Given the description of an element on the screen output the (x, y) to click on. 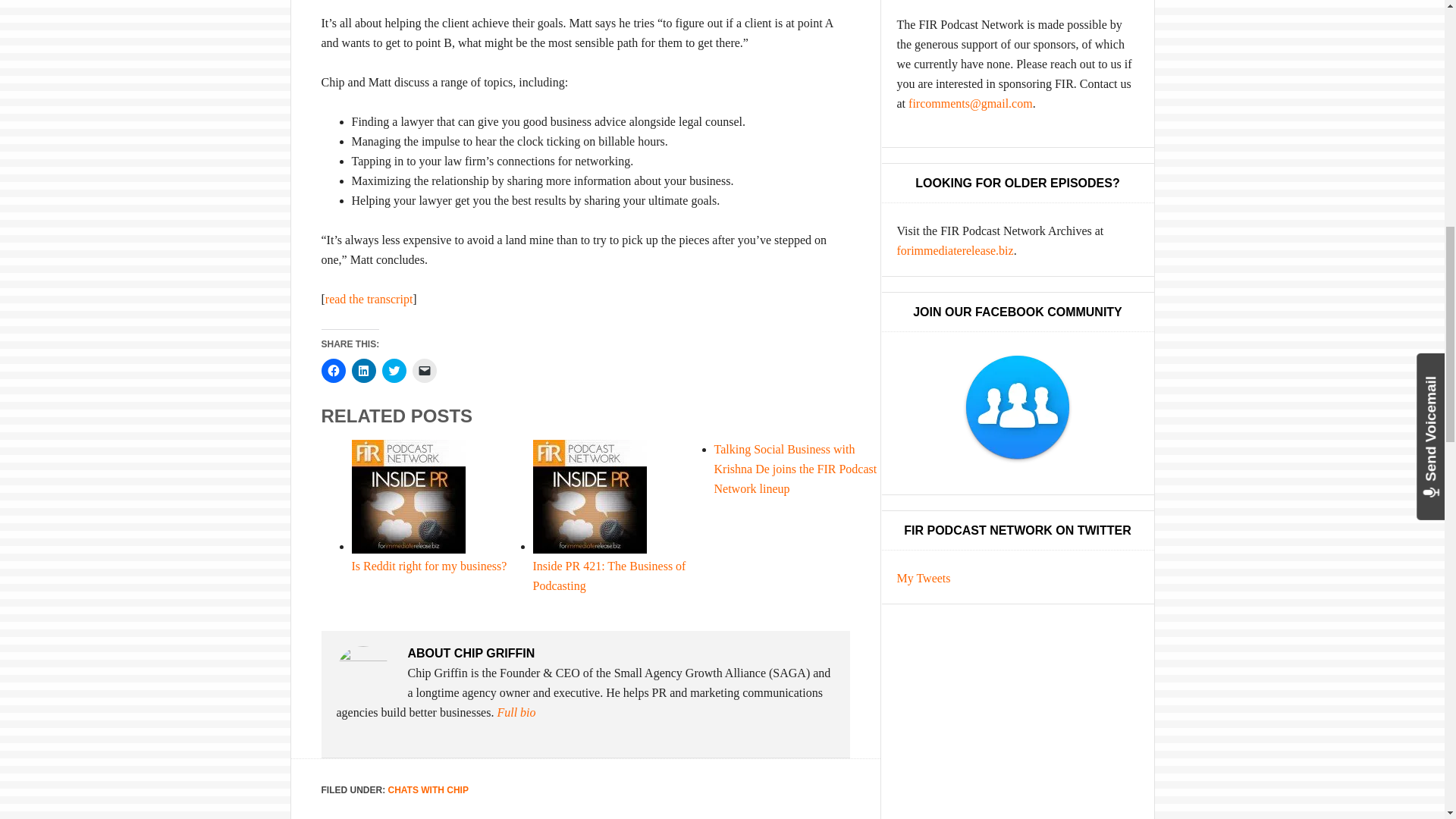
CHATS WITH CHIP (428, 789)
Inside PR 421: The Business of Podcasting (608, 575)
Full bio (515, 712)
read the transcript (368, 298)
Click to share on LinkedIn (363, 370)
Click to share on Twitter (393, 370)
Click to share on Facebook (333, 370)
Is Reddit right for my business? (429, 565)
Click to email a link to a friend (424, 370)
